Given the description of an element on the screen output the (x, y) to click on. 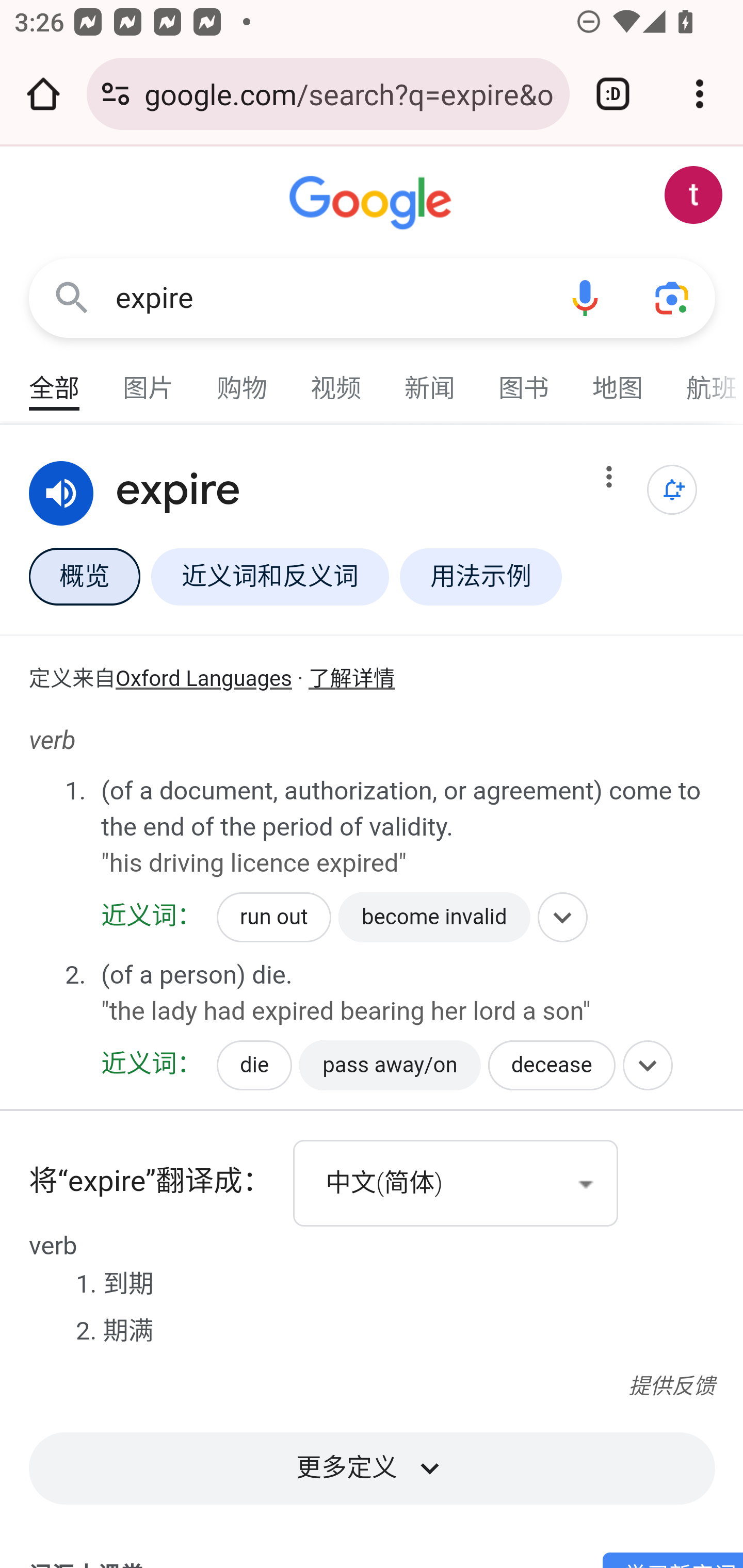
Open the home page (43, 93)
Connection is secure (115, 93)
Switch or close tabs (612, 93)
Customize and control Google Chrome (699, 93)
Google (372, 203)
Google 账号： test appium (testappium002@gmail.com) (694, 195)
Google 搜索 (71, 296)
使用拍照功能或照片进行搜索 (672, 296)
expire (328, 297)
图片 (148, 378)
购物 (242, 378)
视频 (336, 378)
新闻 (430, 378)
图书 (524, 378)
地图 (618, 378)
航班 (703, 378)
接收关于“每日一词”的通知 (672, 489)
更多选项 (609, 481)
 收听  (61, 493)
概览 (83, 575)
近义词和反义词 (269, 575)
用法示例 (480, 575)
Oxford Languages (203, 679)
了解详情 (350, 679)
run out (274, 917)
lapse (550, 987)
cease (153, 1056)
die (254, 1065)
decease (551, 1065)
中文(简体) (455, 1182)
提供反馈 (671, 1387)
更多定义 (371, 1461)
